Given the description of an element on the screen output the (x, y) to click on. 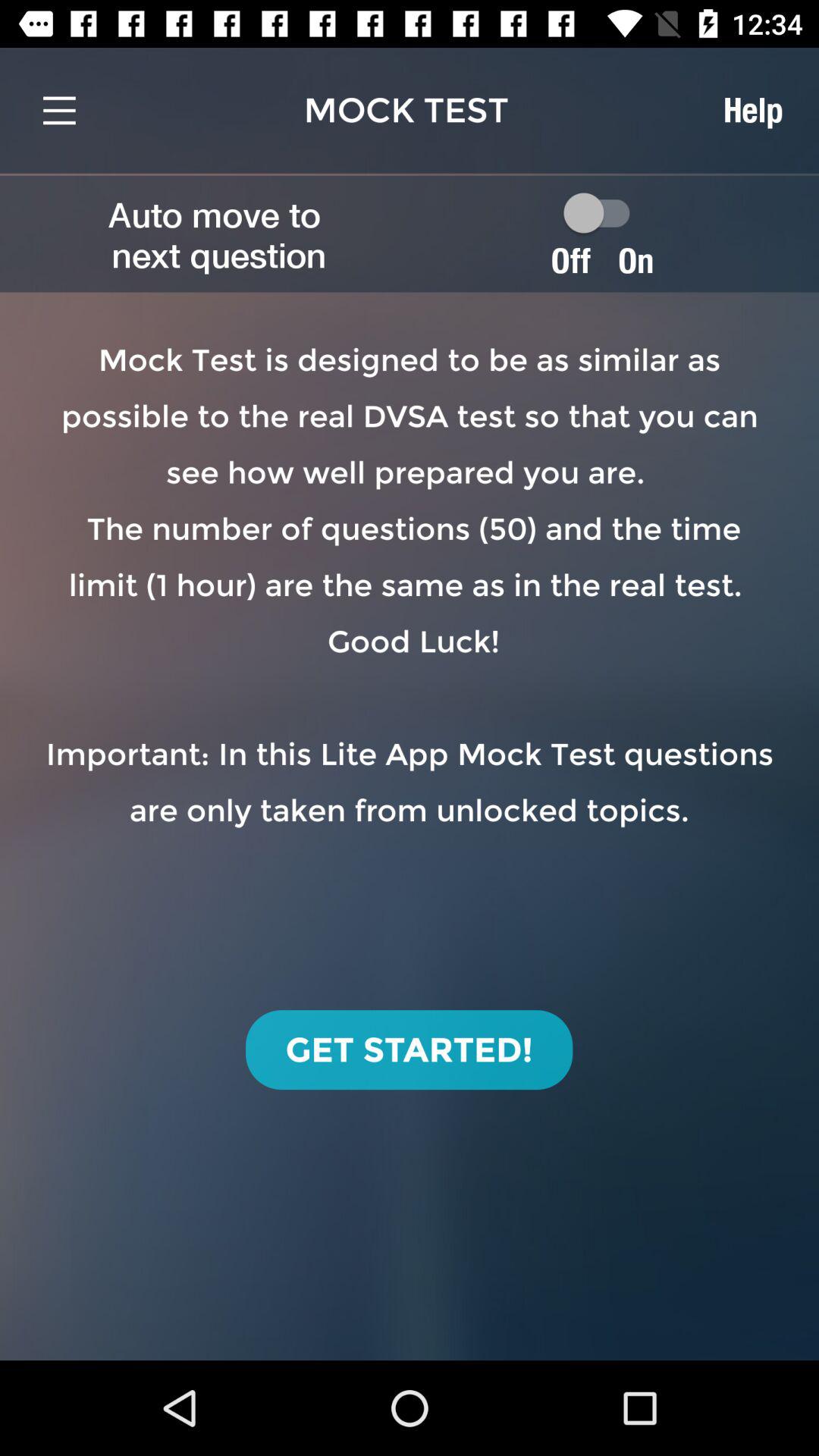
open item above on (752, 110)
